Given the description of an element on the screen output the (x, y) to click on. 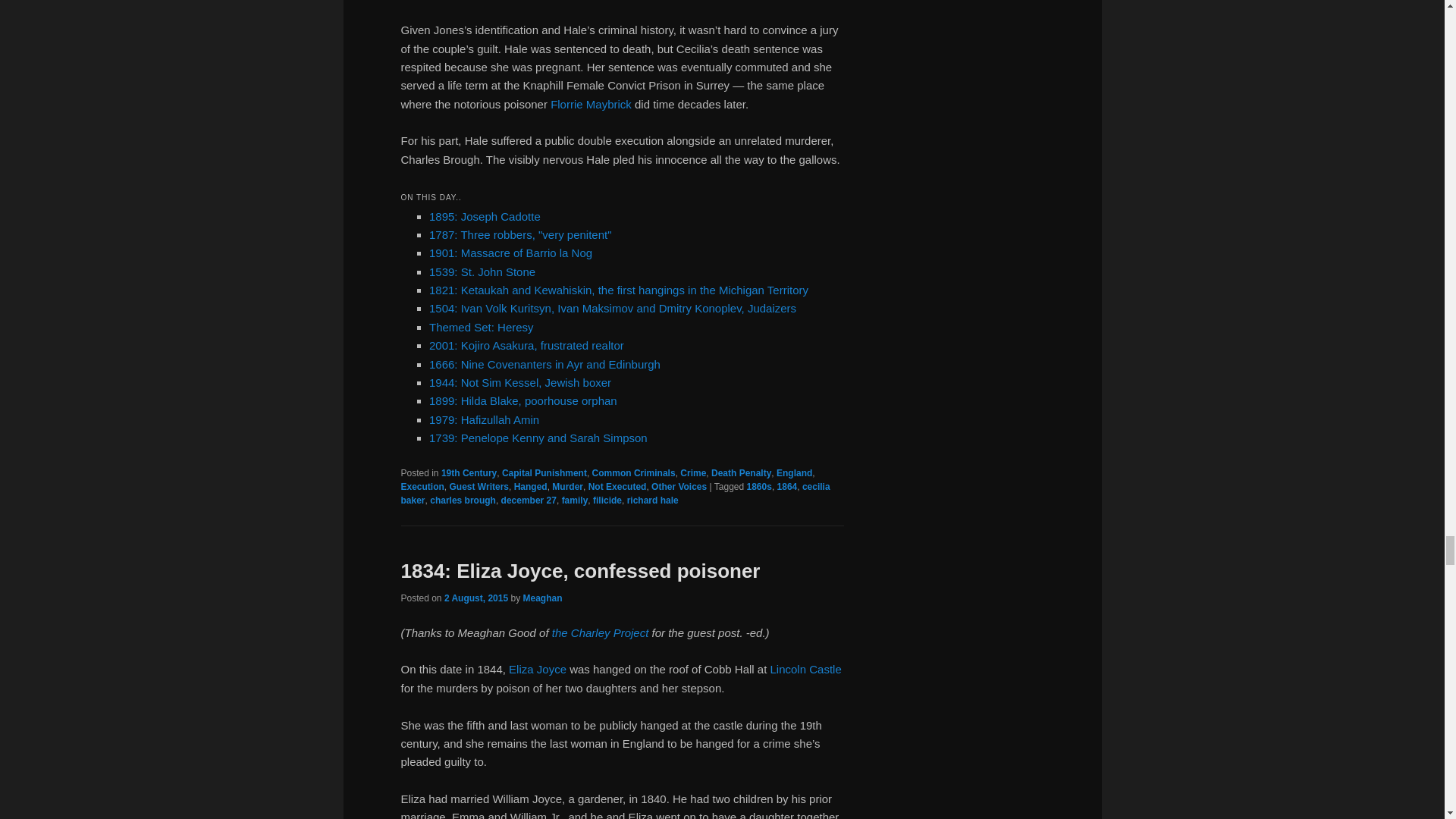
View all posts by Meaghan (542, 597)
4:59 am (476, 597)
